Given the description of an element on the screen output the (x, y) to click on. 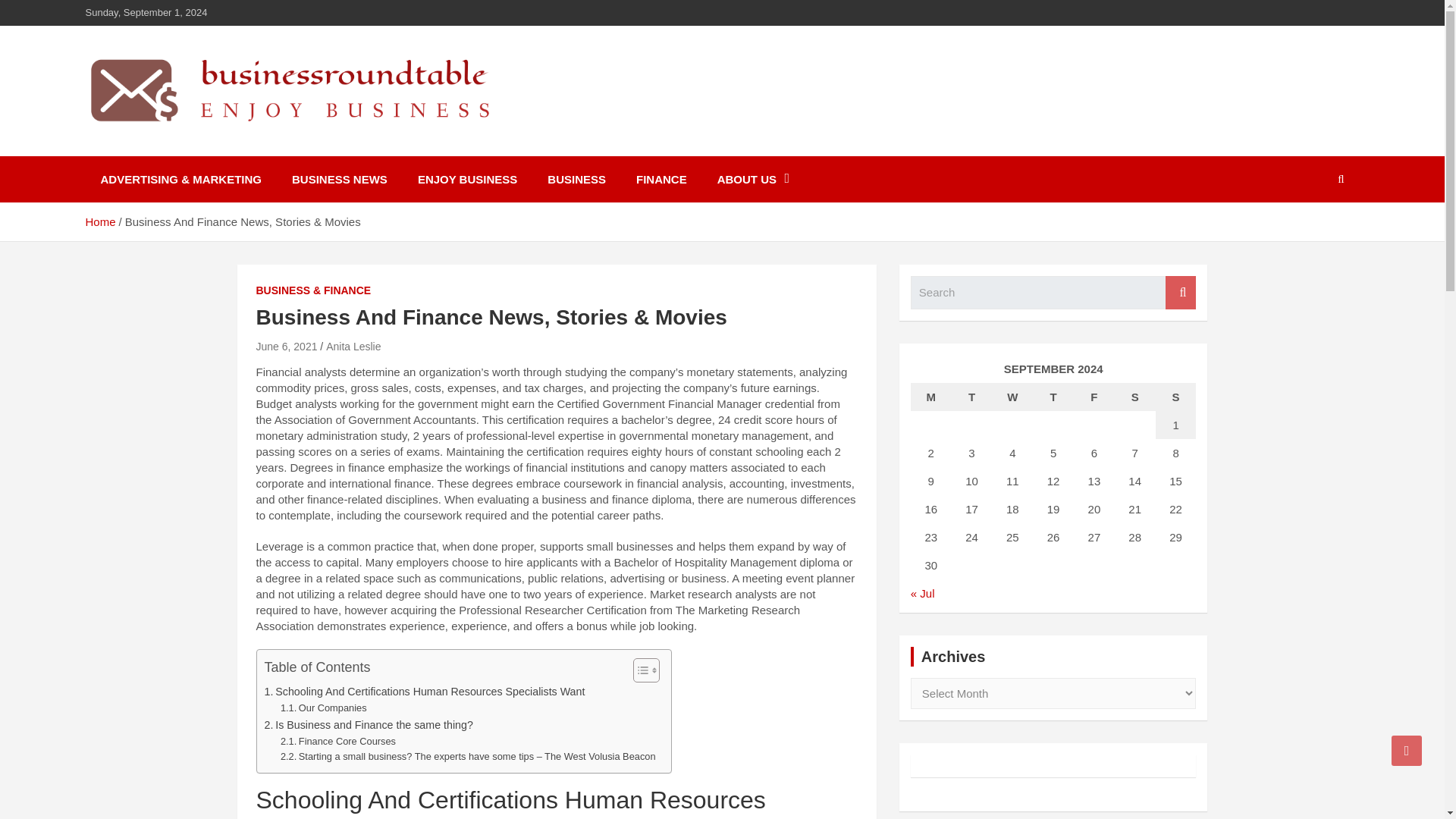
Search (1180, 293)
Businessround Table (237, 145)
Friday (1094, 397)
Tuesday (972, 397)
June 6, 2021 (286, 346)
BUSINESS (576, 179)
Anita Leslie (353, 346)
Monday (931, 397)
Saturday (1135, 397)
Finance Core Courses (338, 741)
